Given the description of an element on the screen output the (x, y) to click on. 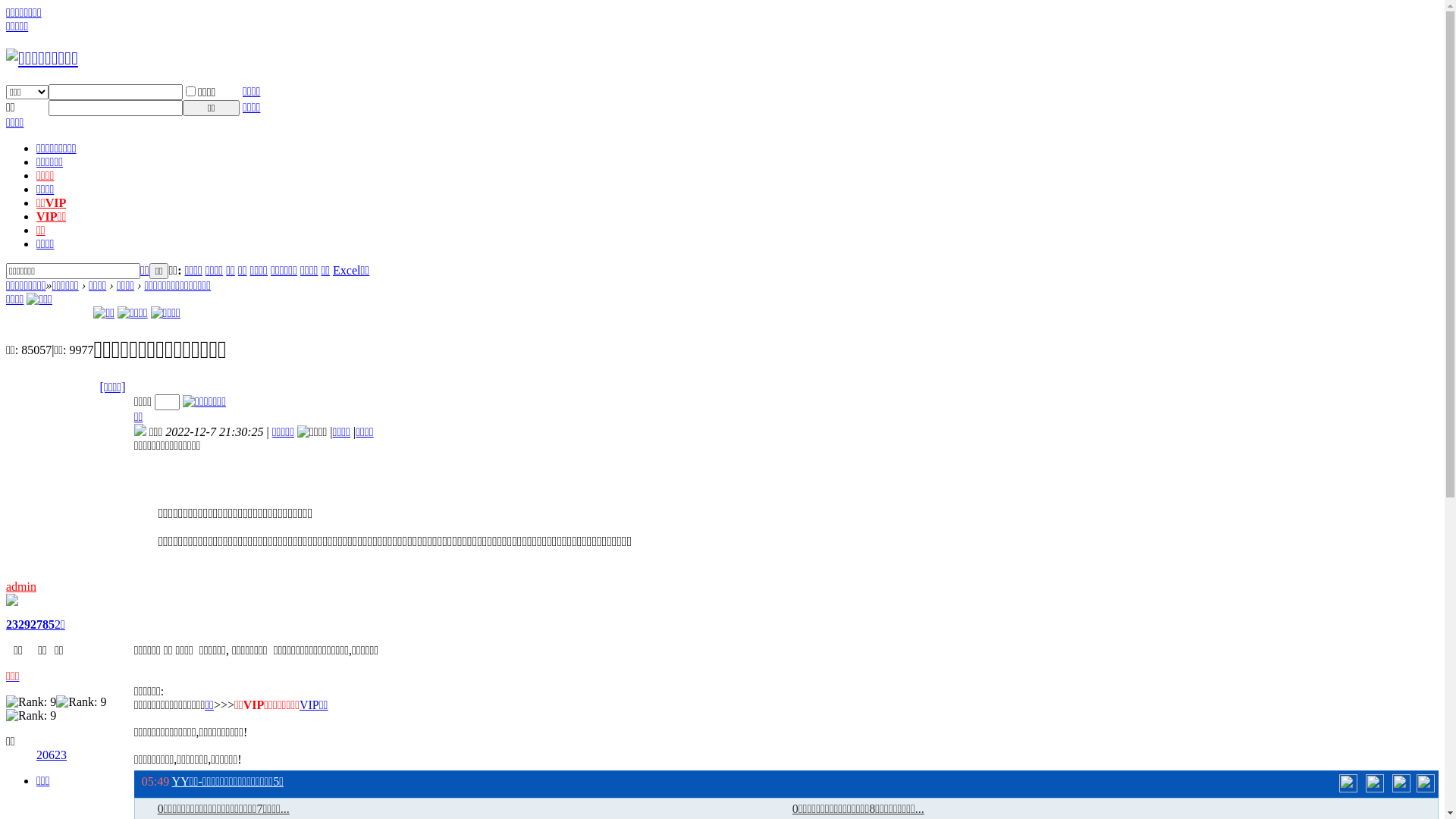
admin Element type: text (21, 586)
2329 Element type: text (18, 624)
2785 Element type: text (42, 624)
20623 Element type: text (51, 754)
